Given the description of an element on the screen output the (x, y) to click on. 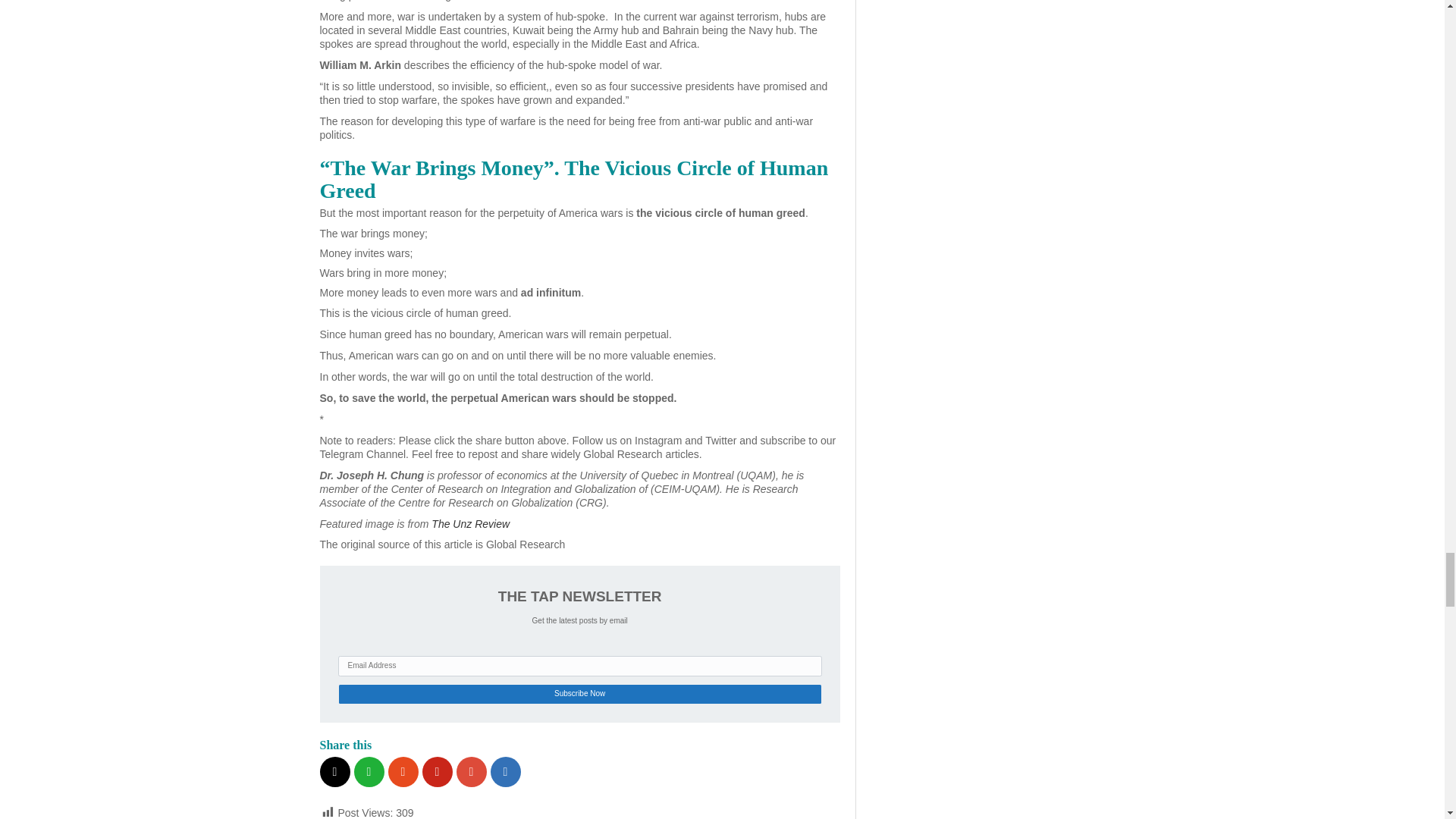
The Unz Review (469, 523)
Subscribe Now (579, 693)
Subscribe Now (579, 693)
